Given the description of an element on the screen output the (x, y) to click on. 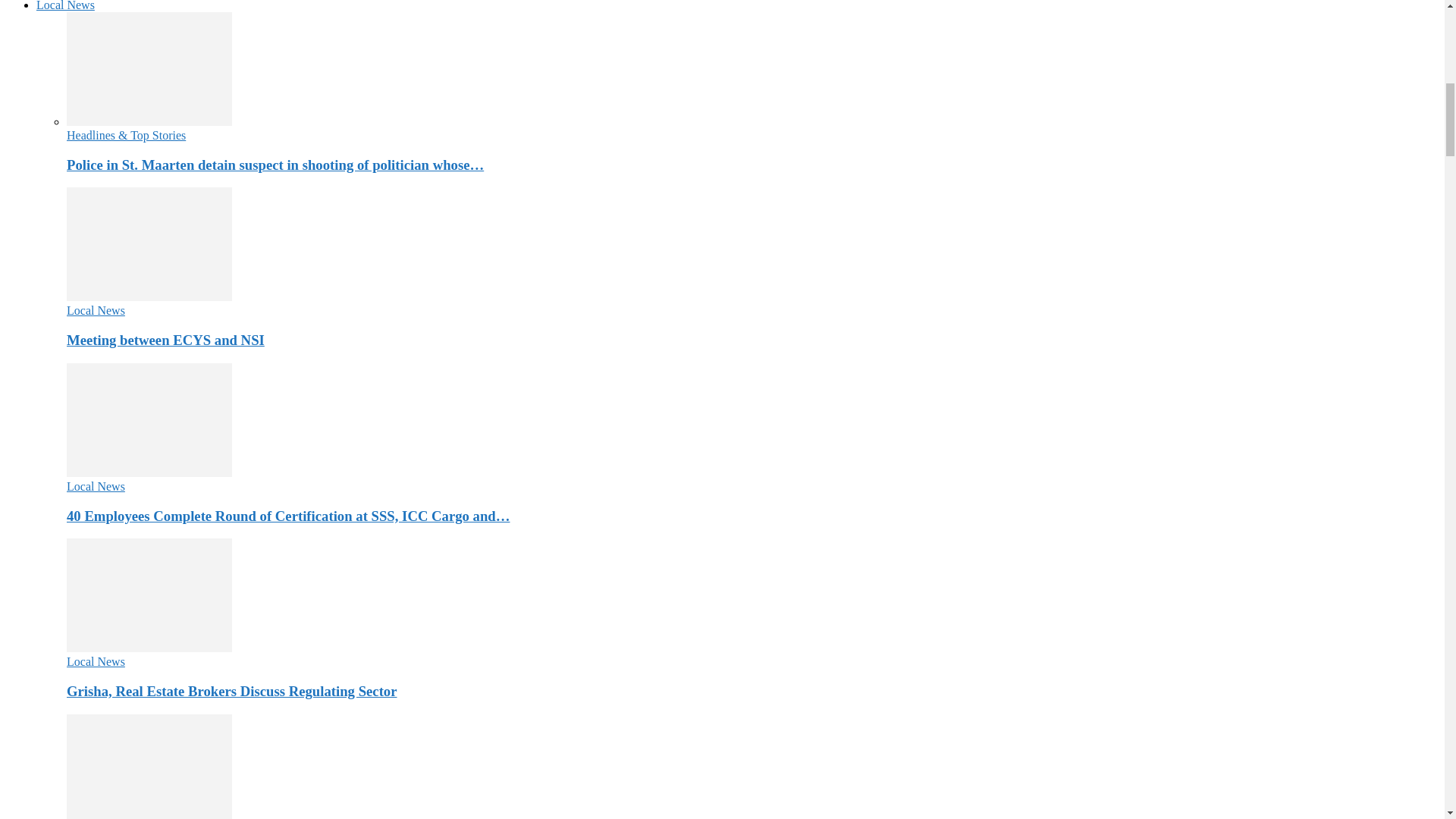
Meeting between ECYS and NSI (165, 340)
Meeting between ECYS and NSI (148, 296)
Meeting between ECYS and NSI (148, 244)
